Given the description of an element on the screen output the (x, y) to click on. 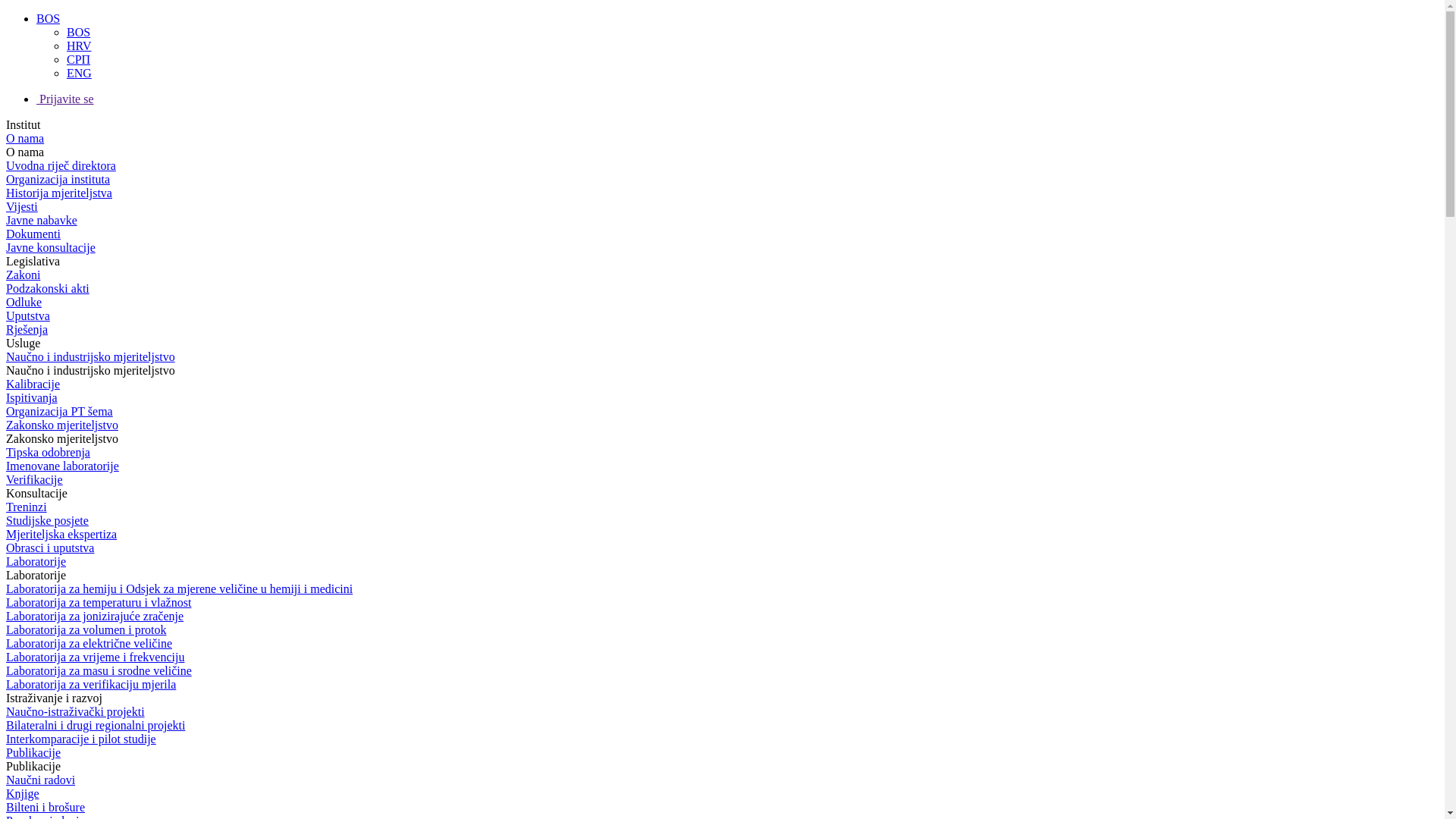
O nama Element type: text (24, 137)
Tipska odobrenja Element type: text (48, 451)
Zakoni Element type: text (23, 274)
BOS Element type: text (78, 31)
Javne konsultacije Element type: text (50, 247)
Podzakonski akti Element type: text (47, 288)
Laboratorije Element type: text (35, 561)
Knjige Element type: text (22, 793)
Laboratorija za verifikaciju mjerila Element type: text (90, 683)
Studijske posjete Element type: text (47, 520)
Mjeriteljska ekspertiza Element type: text (61, 533)
Bilateralni i drugi regionalni projekti Element type: text (95, 724)
Javne nabavke Element type: text (41, 219)
Obrasci i uputstva Element type: text (50, 547)
Vijesti Element type: text (21, 206)
Verifikacije Element type: text (34, 479)
Kalibracije Element type: text (32, 383)
Laboratorija za vrijeme i frekvenciju Element type: text (95, 656)
Uputstva Element type: text (28, 315)
ENG Element type: text (78, 72)
Odluke Element type: text (23, 301)
Historija mjeriteljstva Element type: text (59, 192)
HRV Element type: text (78, 45)
BOS Element type: text (47, 18)
Ispitivanja Element type: text (31, 397)
Organizacija instituta Element type: text (57, 178)
 Prijavite se Element type: text (65, 98)
Dokumenti Element type: text (33, 233)
Treninzi Element type: text (26, 506)
Laboratorija za volumen i protok Element type: text (86, 629)
Zakonsko mjeriteljstvo Element type: text (62, 424)
Imenovane laboratorije Element type: text (62, 465)
Publikacije Element type: text (33, 752)
